Given the description of an element on the screen output the (x, y) to click on. 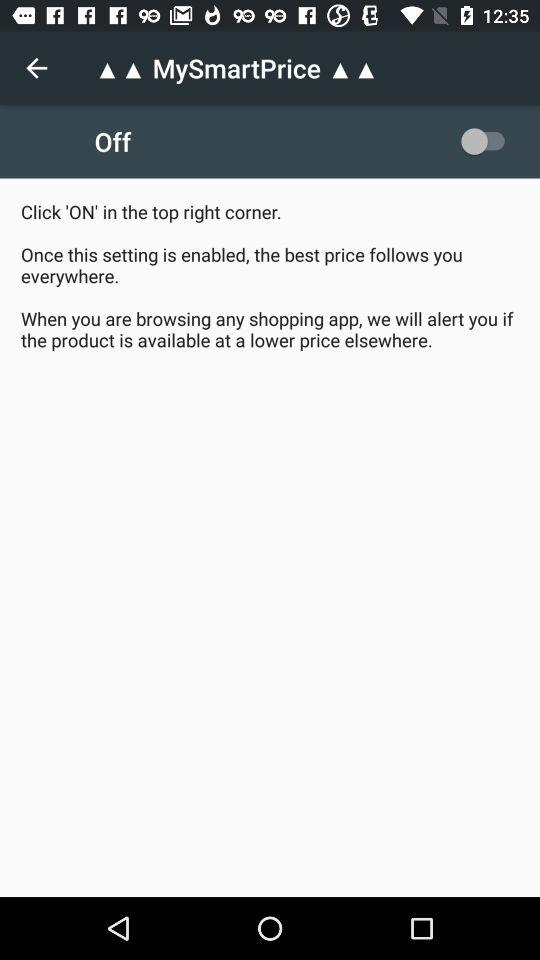
launch item to the right of the off (487, 141)
